Given the description of an element on the screen output the (x, y) to click on. 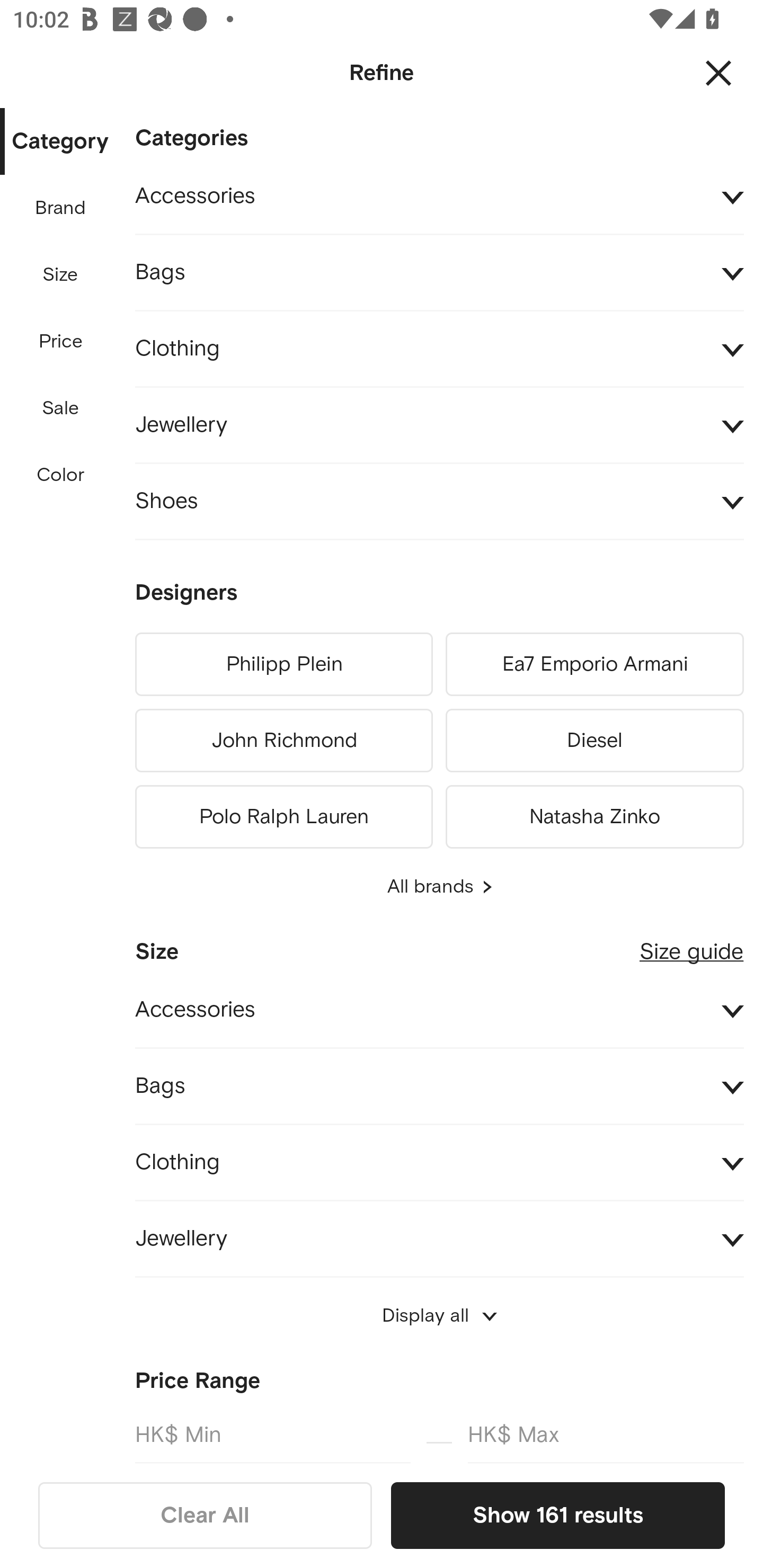
Category (60, 141)
Accessories (439, 196)
Brand (60, 208)
Bags (439, 272)
Size (60, 274)
Price (60, 342)
Clothing (439, 348)
Sale (60, 408)
Jewellery (439, 425)
Color (60, 475)
Shoes (439, 501)
Philipp Plein (283, 663)
Ea7 Emporio Armani (594, 663)
John Richmond (283, 740)
Diesel (594, 740)
Polo Ralph Lauren (283, 813)
Natasha Zinko (594, 813)
All brands (439, 886)
Size guide (691, 944)
Accessories (439, 1010)
Bags (439, 1086)
Clothing (439, 1162)
Jewellery (439, 1239)
Display all (439, 1315)
HK$ Min (272, 1433)
HK$ Max (605, 1433)
Clear All (205, 1515)
Show 161 results (557, 1515)
